Given the description of an element on the screen output the (x, y) to click on. 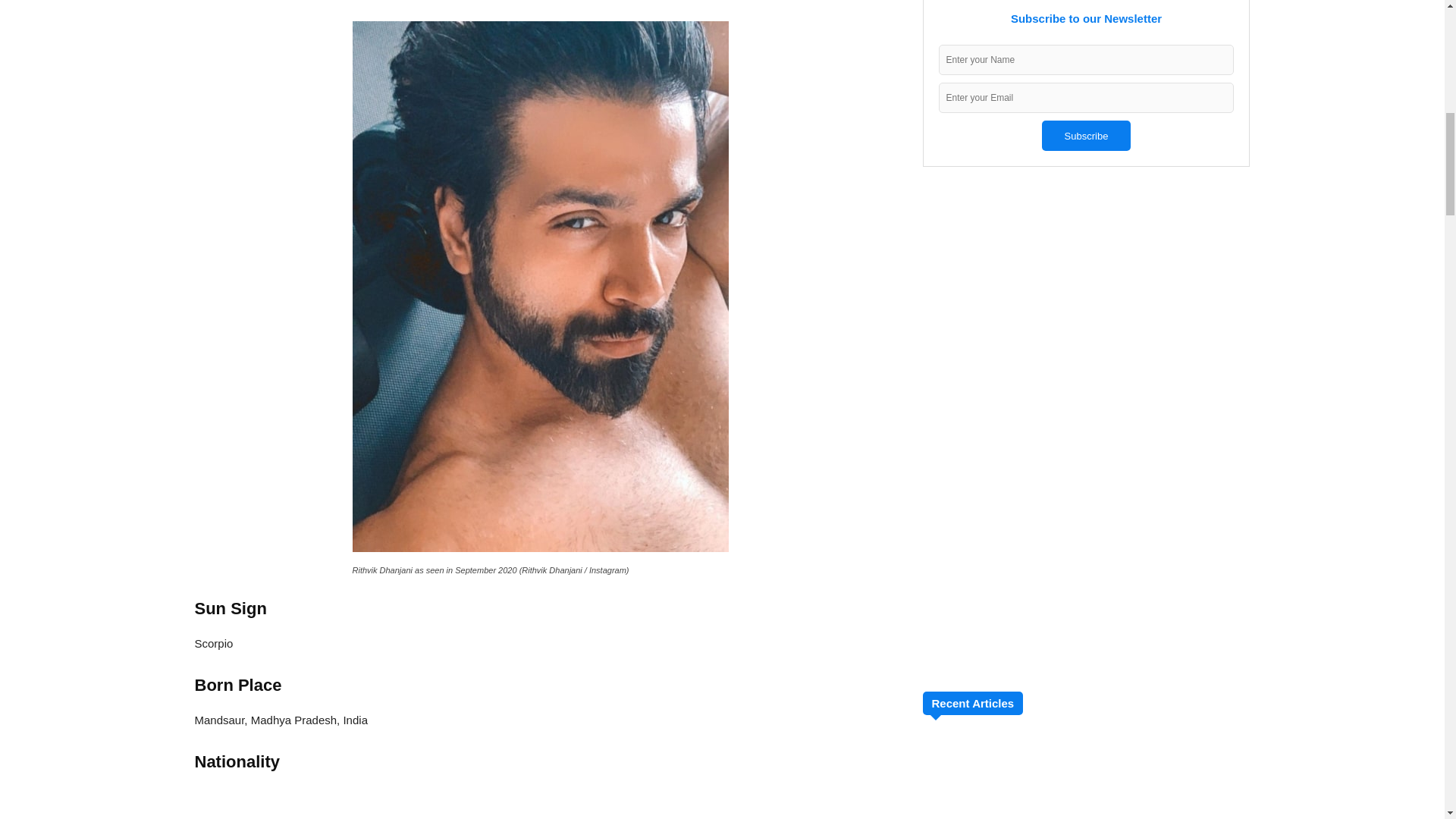
Subscribe (1086, 135)
